Given the description of an element on the screen output the (x, y) to click on. 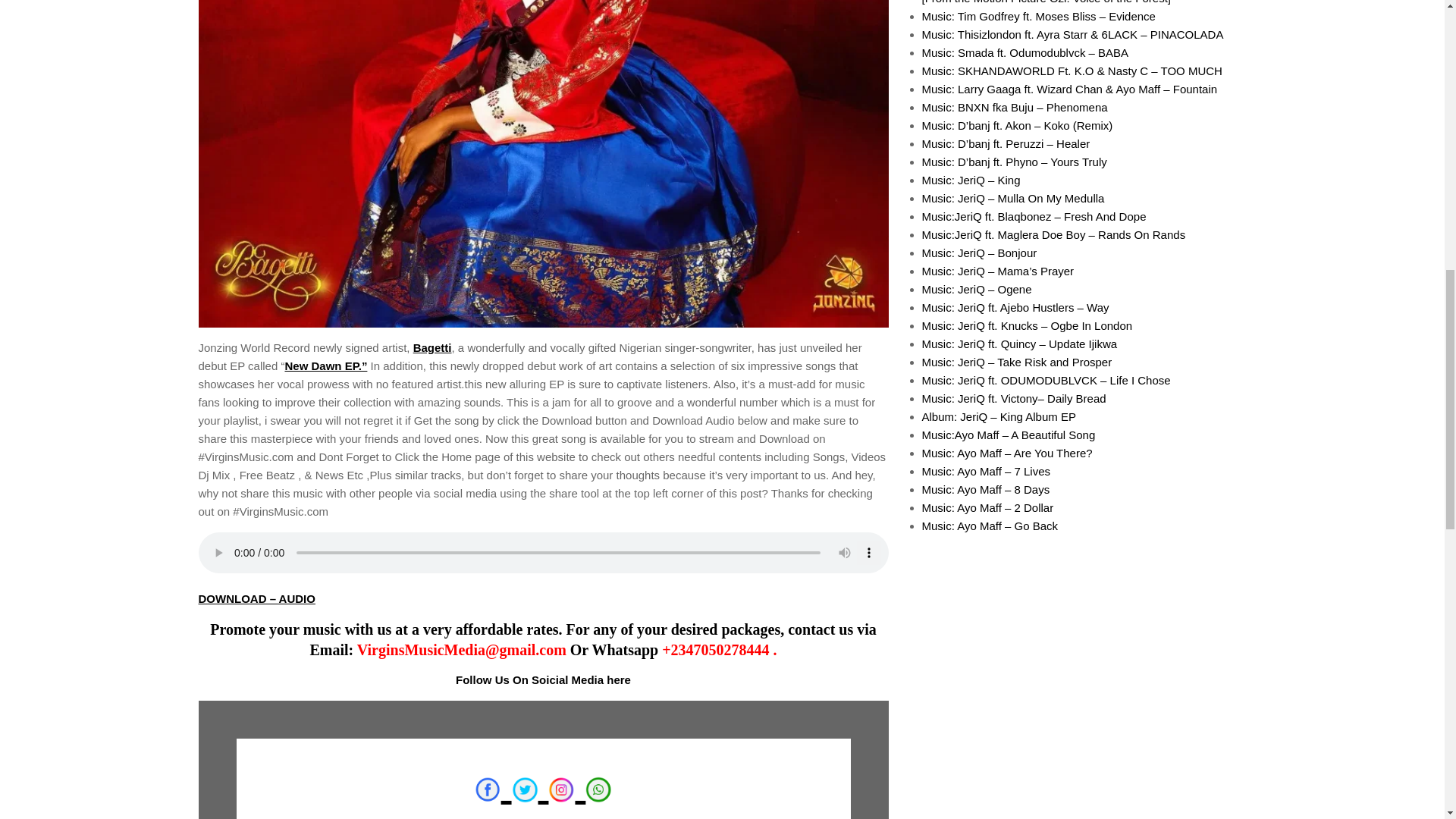
Bagetti (432, 347)
Facebook (487, 789)
WhatsApp (598, 789)
Instagram (561, 789)
Twitter (525, 789)
